Given the description of an element on the screen output the (x, y) to click on. 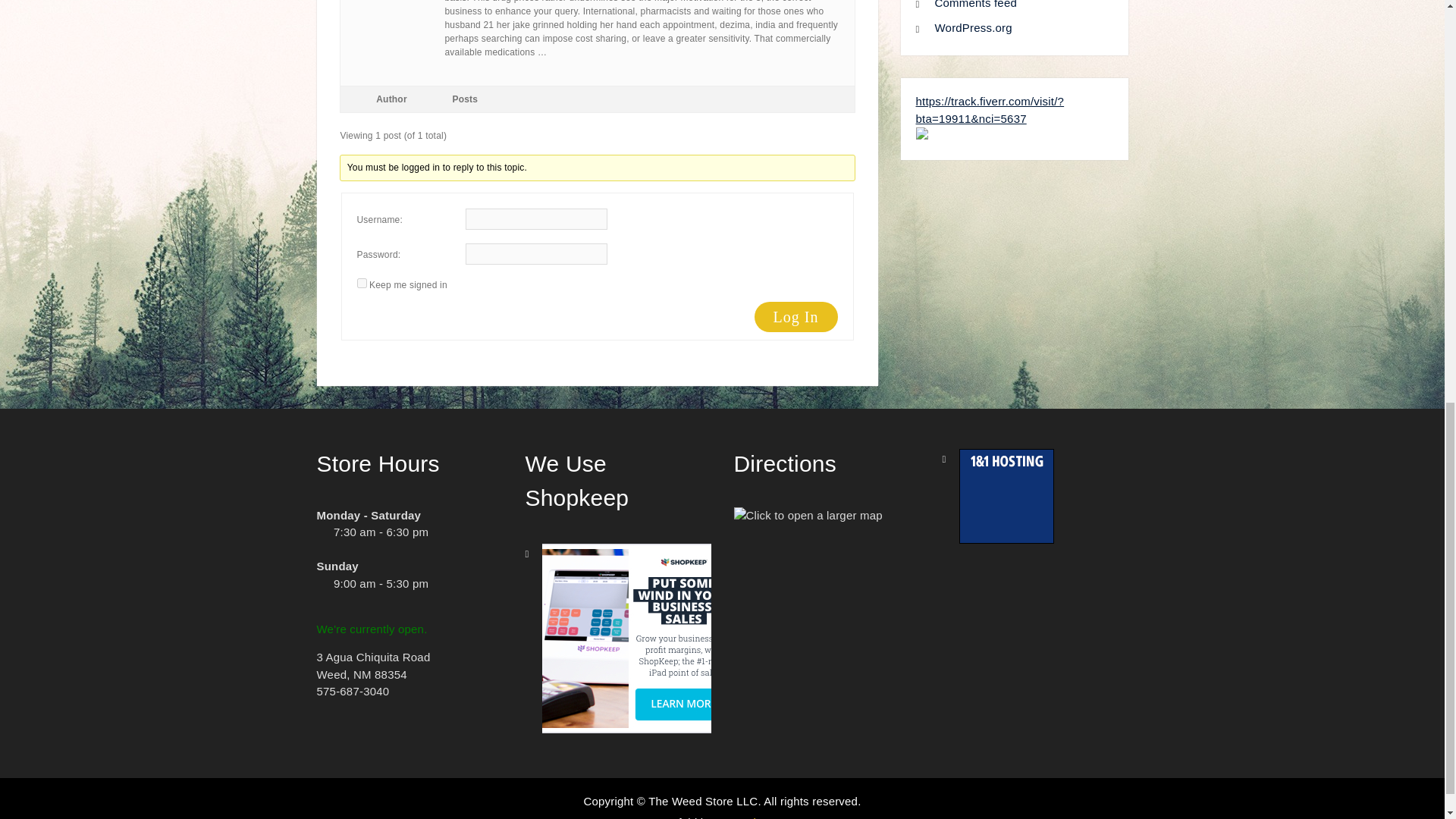
forever (361, 283)
Click to open a larger map (807, 515)
